Given the description of an element on the screen output the (x, y) to click on. 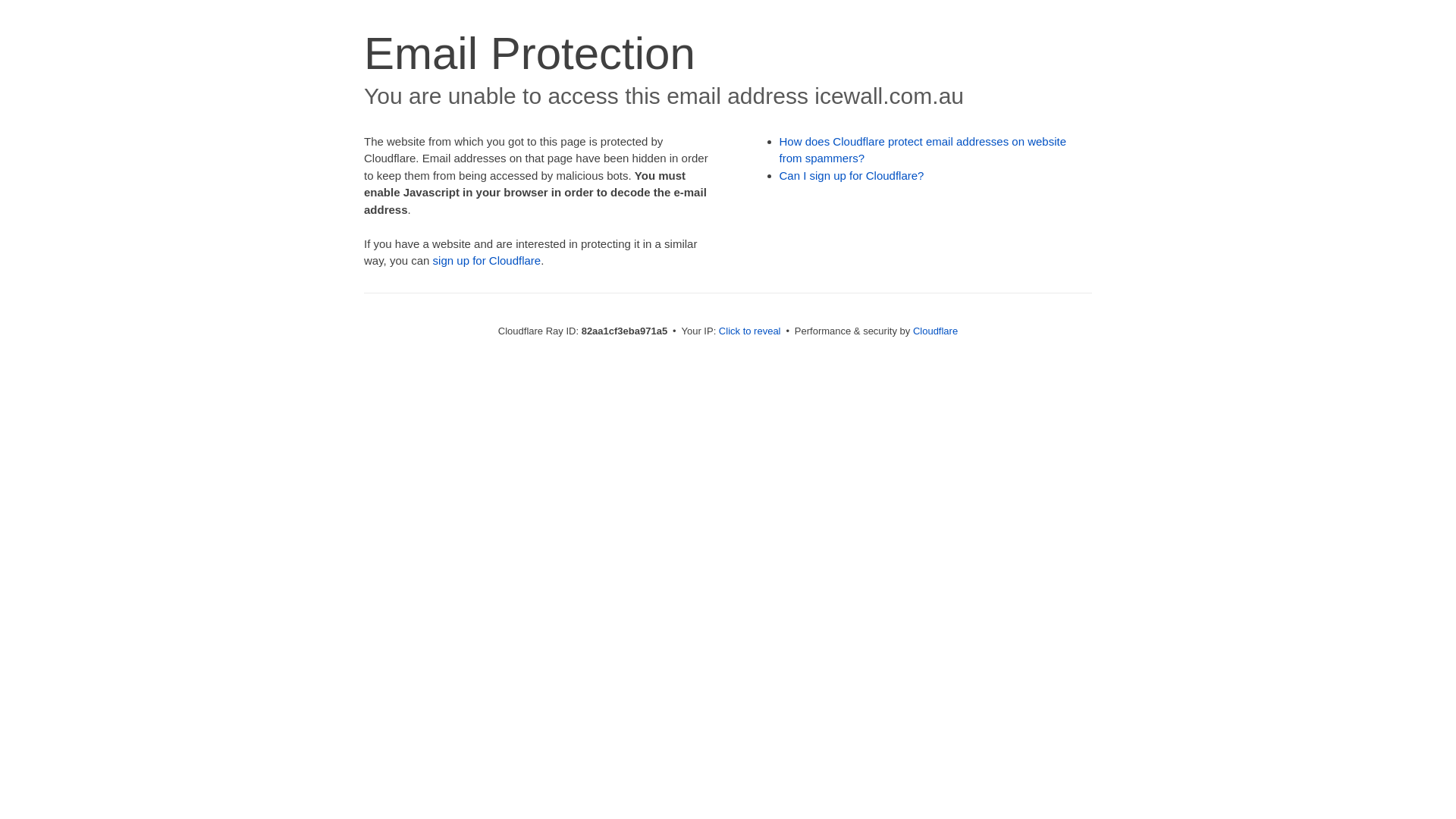
Can I sign up for Cloudflare? Element type: text (851, 175)
Click to reveal Element type: text (749, 330)
Cloudflare Element type: text (935, 330)
sign up for Cloudflare Element type: text (487, 260)
